Given the description of an element on the screen output the (x, y) to click on. 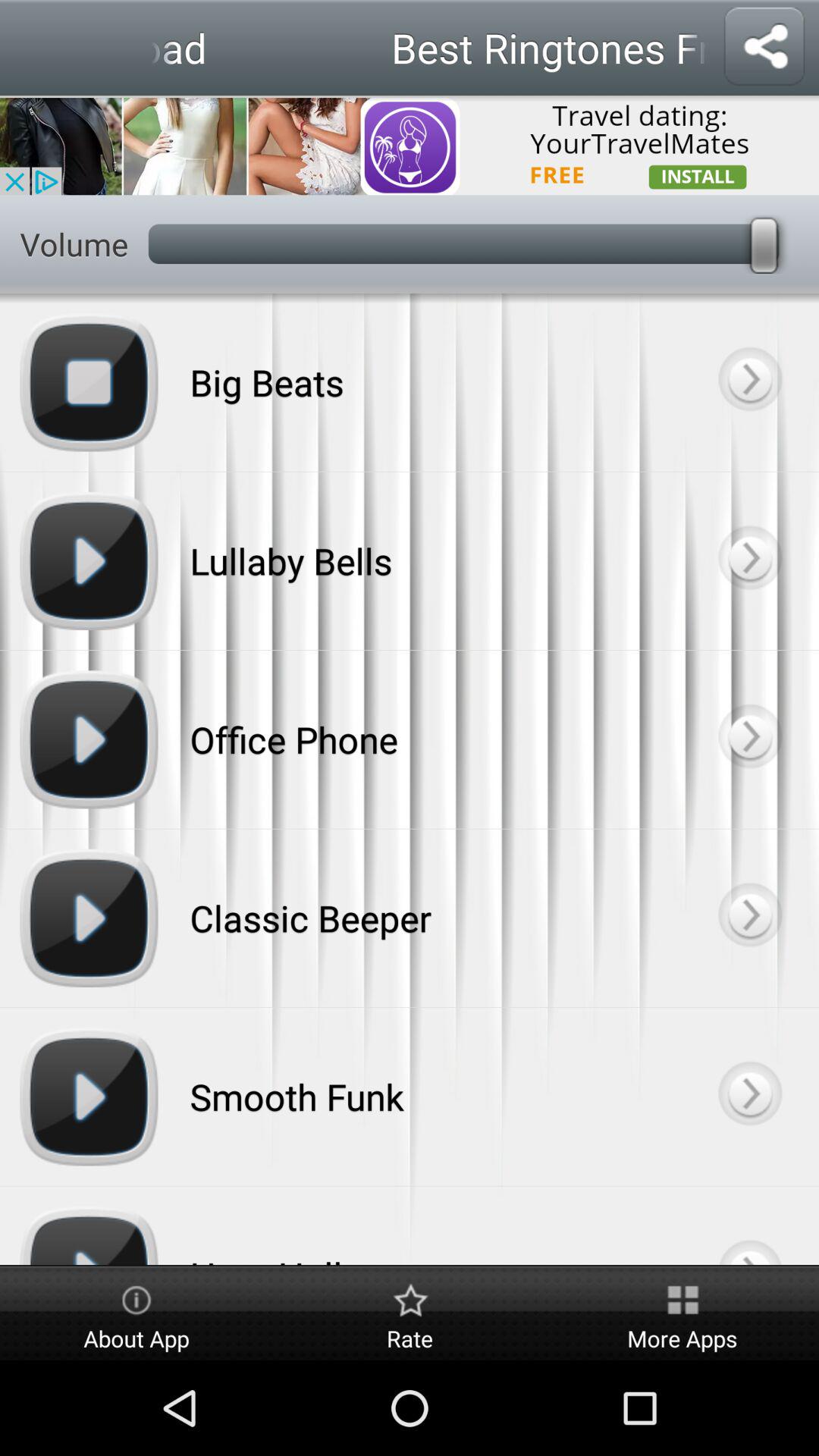
search about add (409, 145)
